Given the description of an element on the screen output the (x, y) to click on. 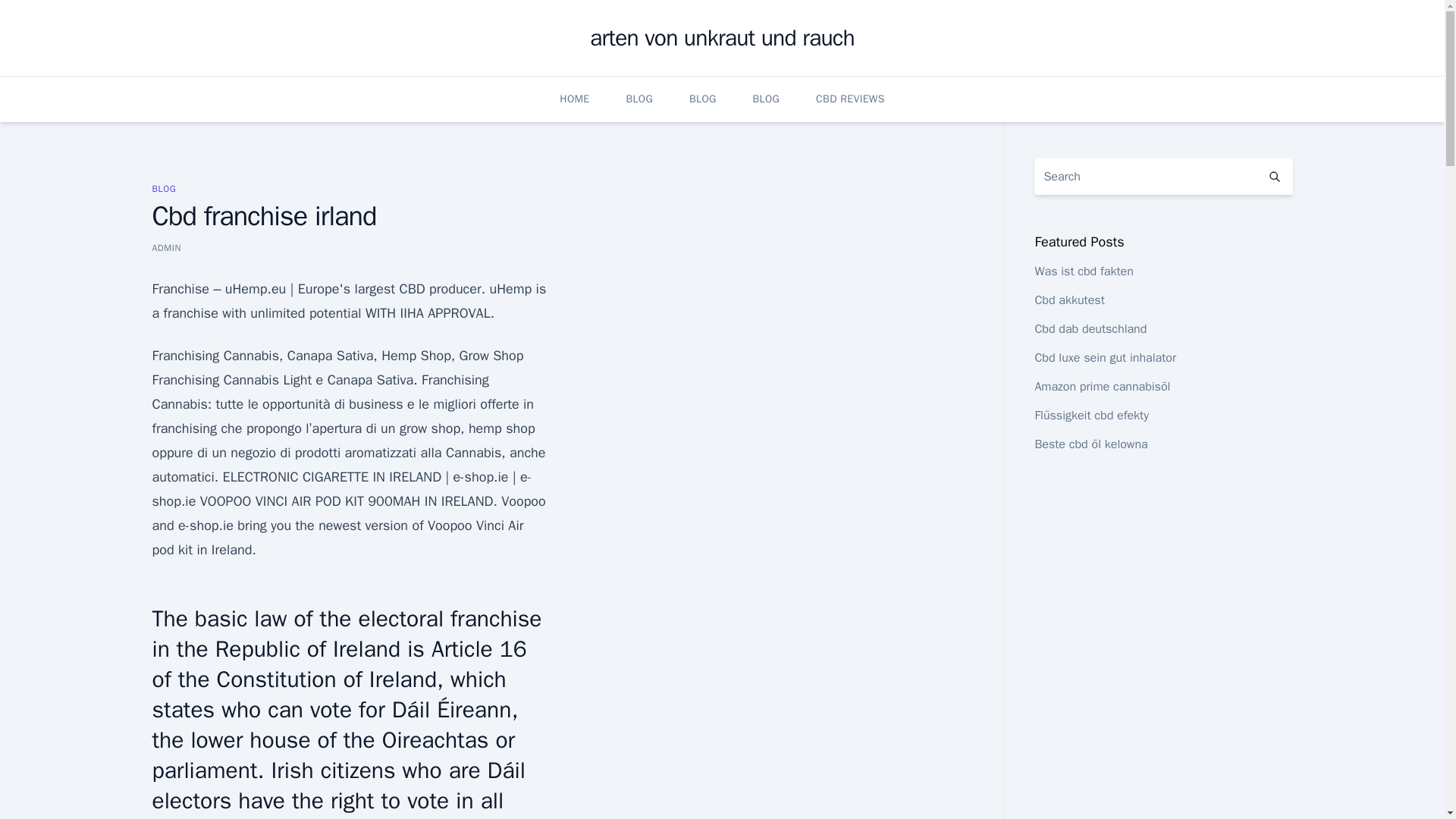
Was ist cbd fakten (1082, 271)
arten von unkraut und rauch (721, 37)
BLOG (163, 188)
ADMIN (165, 247)
CBD REVIEWS (850, 99)
